Given the description of an element on the screen output the (x, y) to click on. 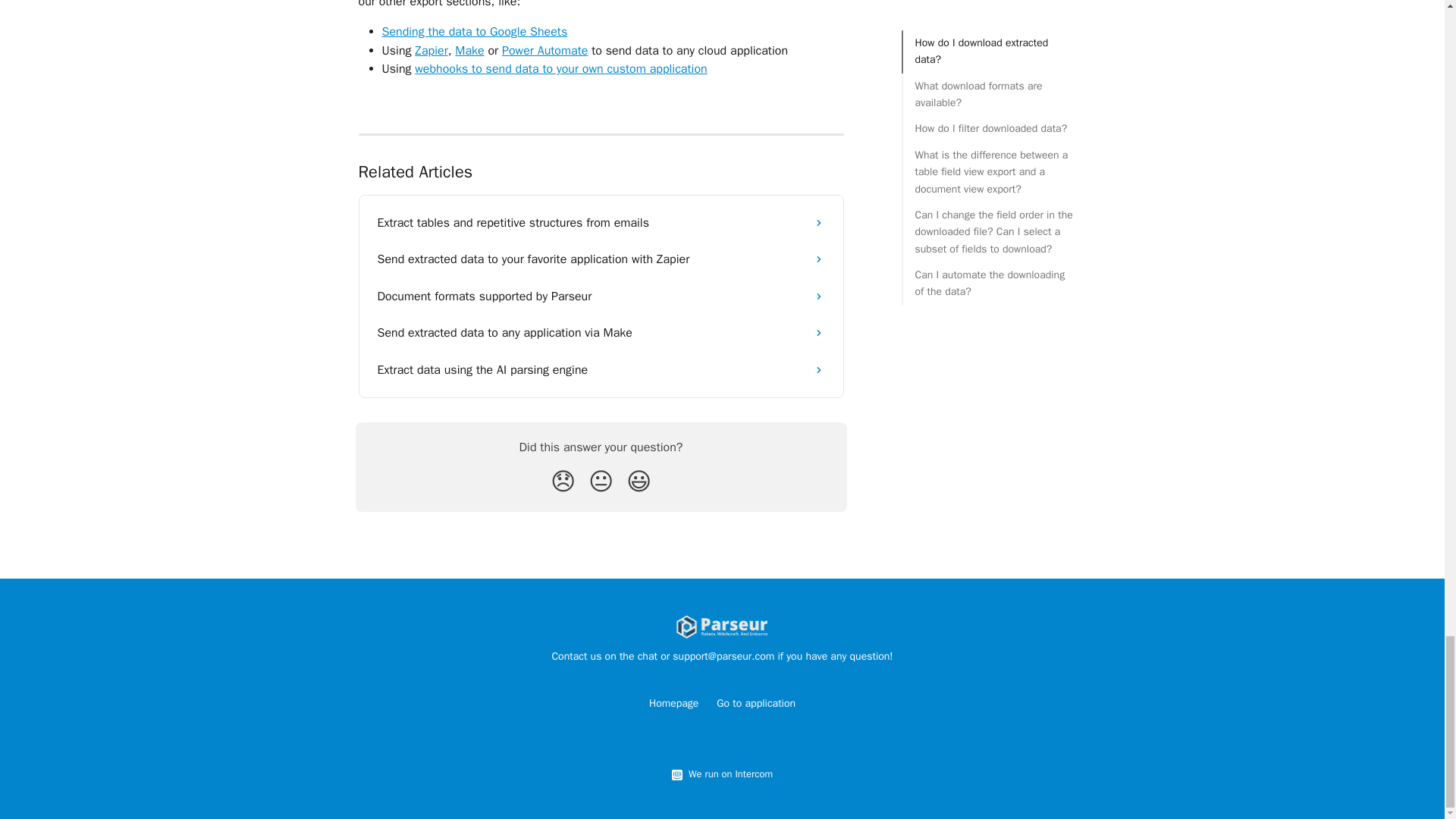
Sending the data to Google Sheets (474, 31)
webhooks to send data to your own custom application (560, 68)
Document formats supported by Parseur (601, 296)
Zapier (430, 50)
Power Automate (545, 50)
Extract tables and repetitive structures from emails (601, 222)
Homepage (673, 703)
Send extracted data to any application via Make (601, 332)
Send extracted data to your favorite application with Zapier (601, 258)
Extract data using the AI parsing engine (601, 370)
